Given the description of an element on the screen output the (x, y) to click on. 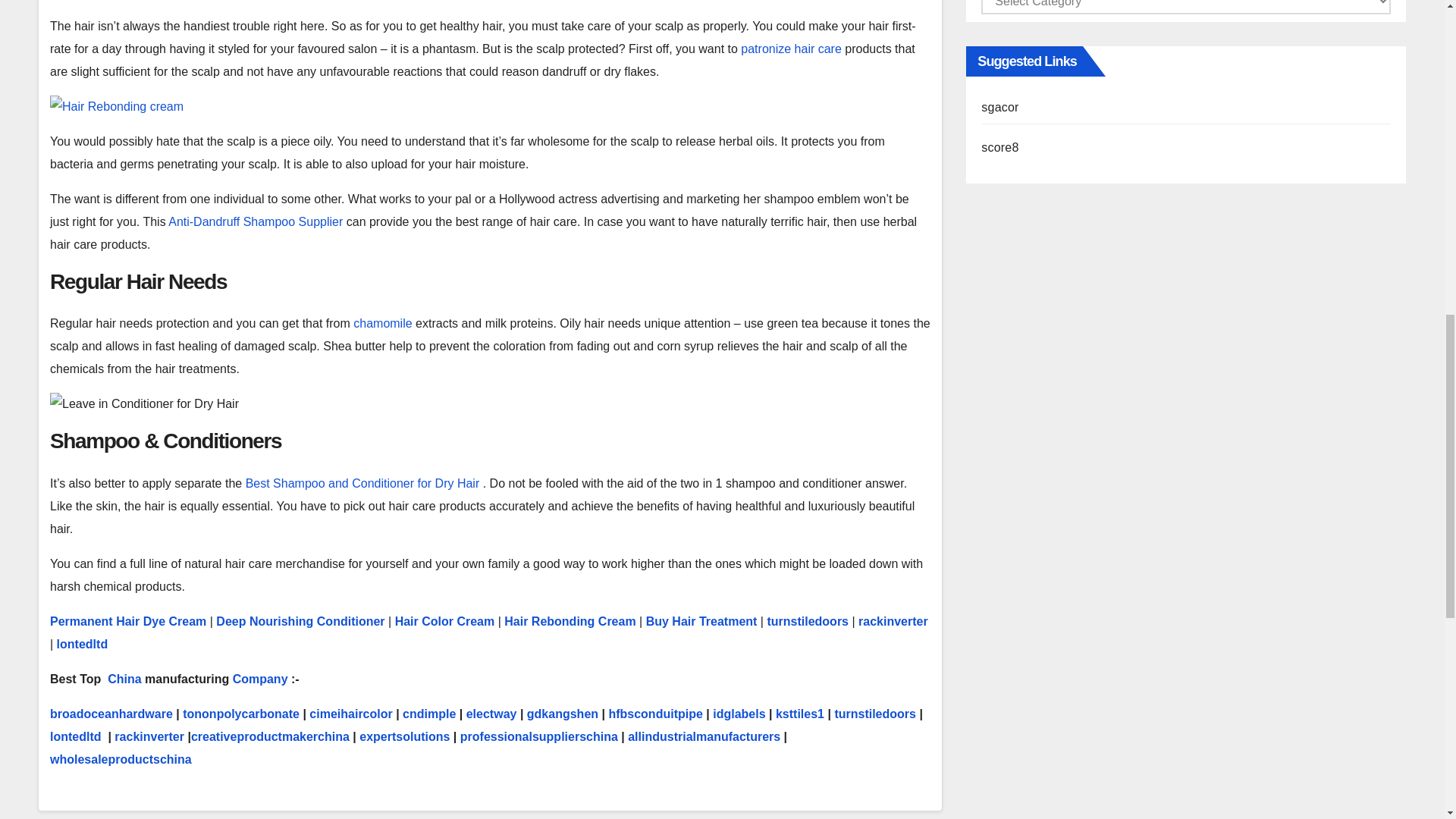
Best Shampoo and Conditioner for Dry Hair (364, 482)
Hair Rebonding Cream (568, 621)
China (124, 678)
chamomile (383, 323)
hfbsconduitpipe (654, 713)
Hair Color Cream (444, 621)
cndimple (429, 713)
tononpolycarbonate (241, 713)
gdkangshen (562, 713)
electway (490, 713)
